Given the description of an element on the screen output the (x, y) to click on. 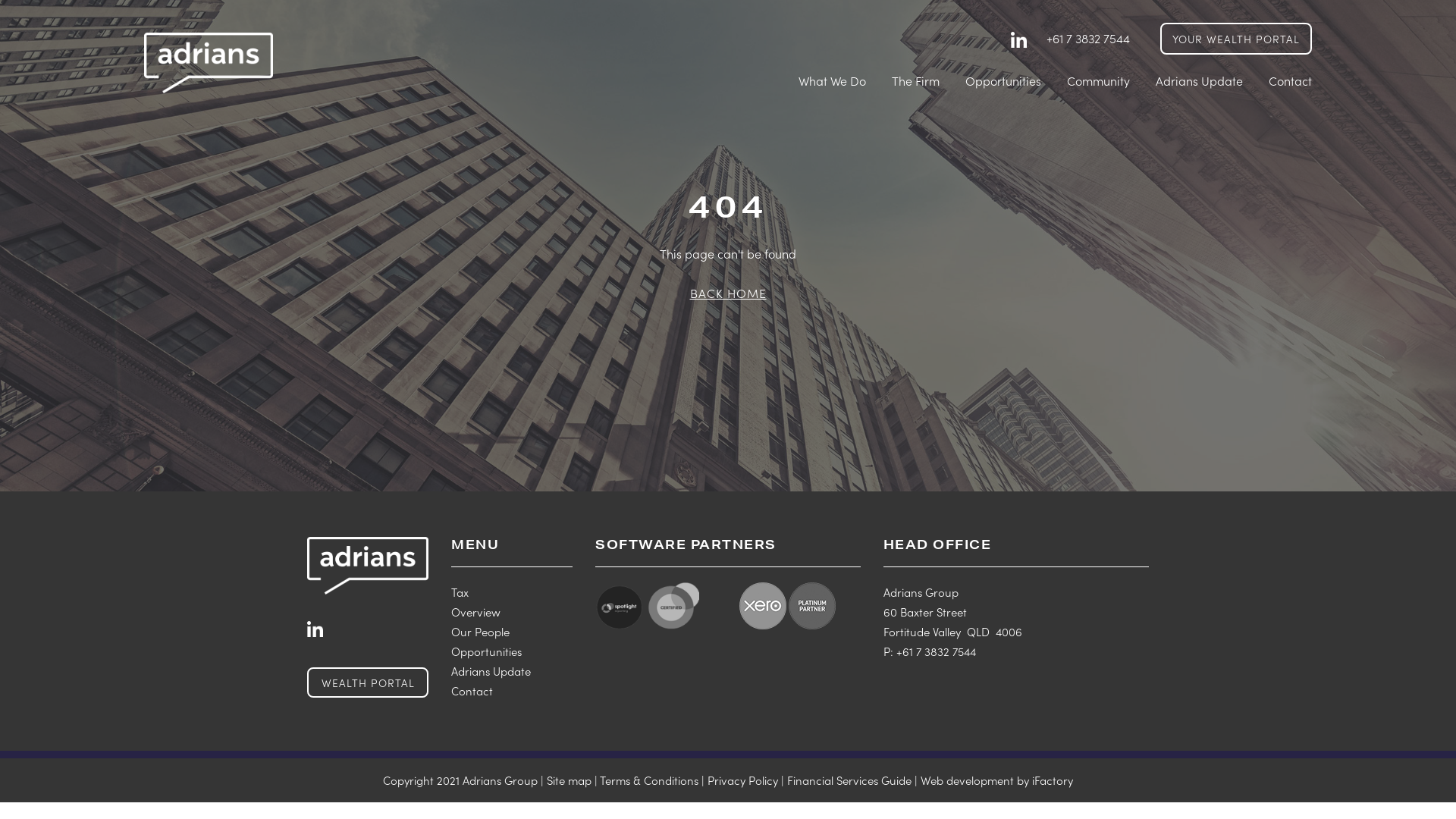
Web development by iFactory Element type: text (996, 779)
Our People Element type: text (480, 631)
Spotlight and Certified logos Element type: hover (647, 605)
Tax Element type: text (459, 591)
BACK HOME Element type: text (728, 292)
WEALTH PORTAL Element type: text (367, 682)
Adrians Update Element type: text (1198, 80)
+61 7 3832 7544 Element type: text (935, 650)
Opportunities Element type: text (1003, 80)
The Firm Element type: text (915, 80)
Contact Element type: text (471, 690)
Contact Element type: text (1289, 80)
Community Element type: text (1097, 80)
Adrians Update Element type: text (490, 670)
Overview Element type: text (475, 611)
Terms & Conditions Element type: text (648, 779)
Site map Element type: text (568, 779)
Financial Services Guide Element type: text (849, 779)
What We Do Element type: text (832, 80)
Opportunities Element type: text (486, 650)
YOUR WEALTH PORTAL Element type: text (1235, 38)
Privacy Policy Element type: text (742, 779)
+61 7 3832 7544 Element type: text (1087, 37)
